Given the description of an element on the screen output the (x, y) to click on. 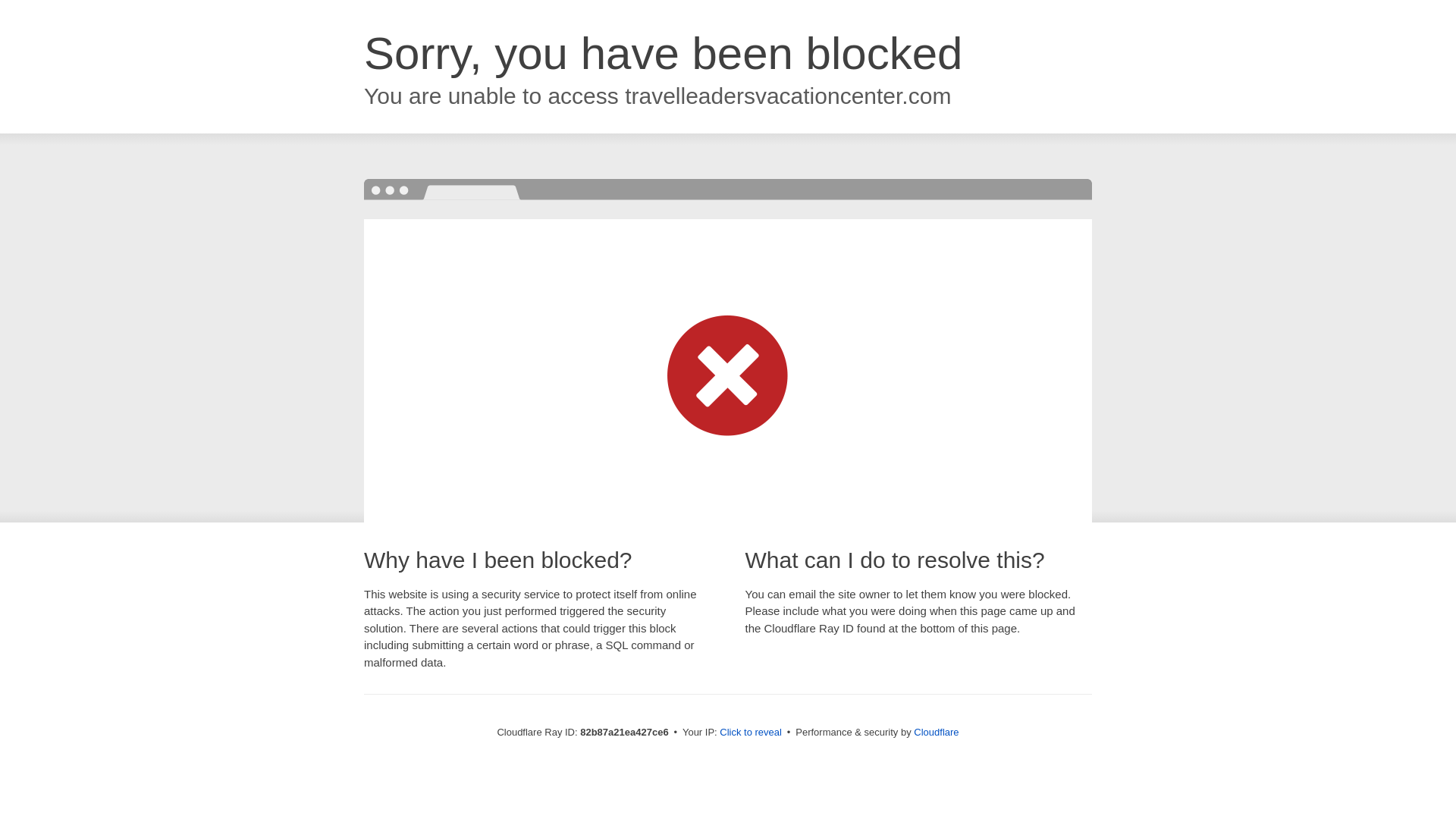
Cloudflare Element type: text (935, 731)
Click to reveal Element type: text (750, 732)
